Given the description of an element on the screen output the (x, y) to click on. 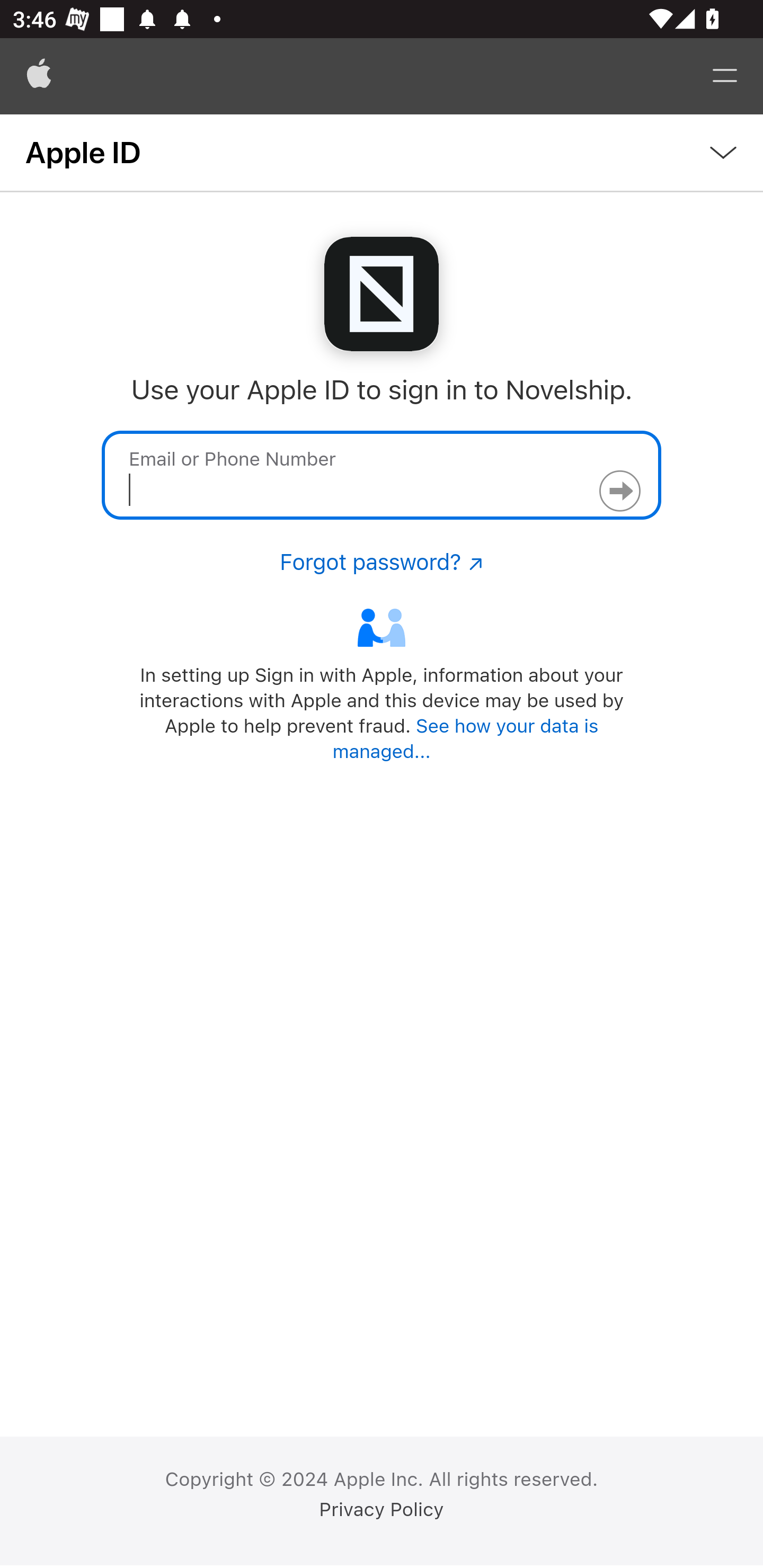
Apple (38, 75)
Menu (724, 75)
Continue (618, 490)
Privacy Policy (381, 1509)
